Given the description of an element on the screen output the (x, y) to click on. 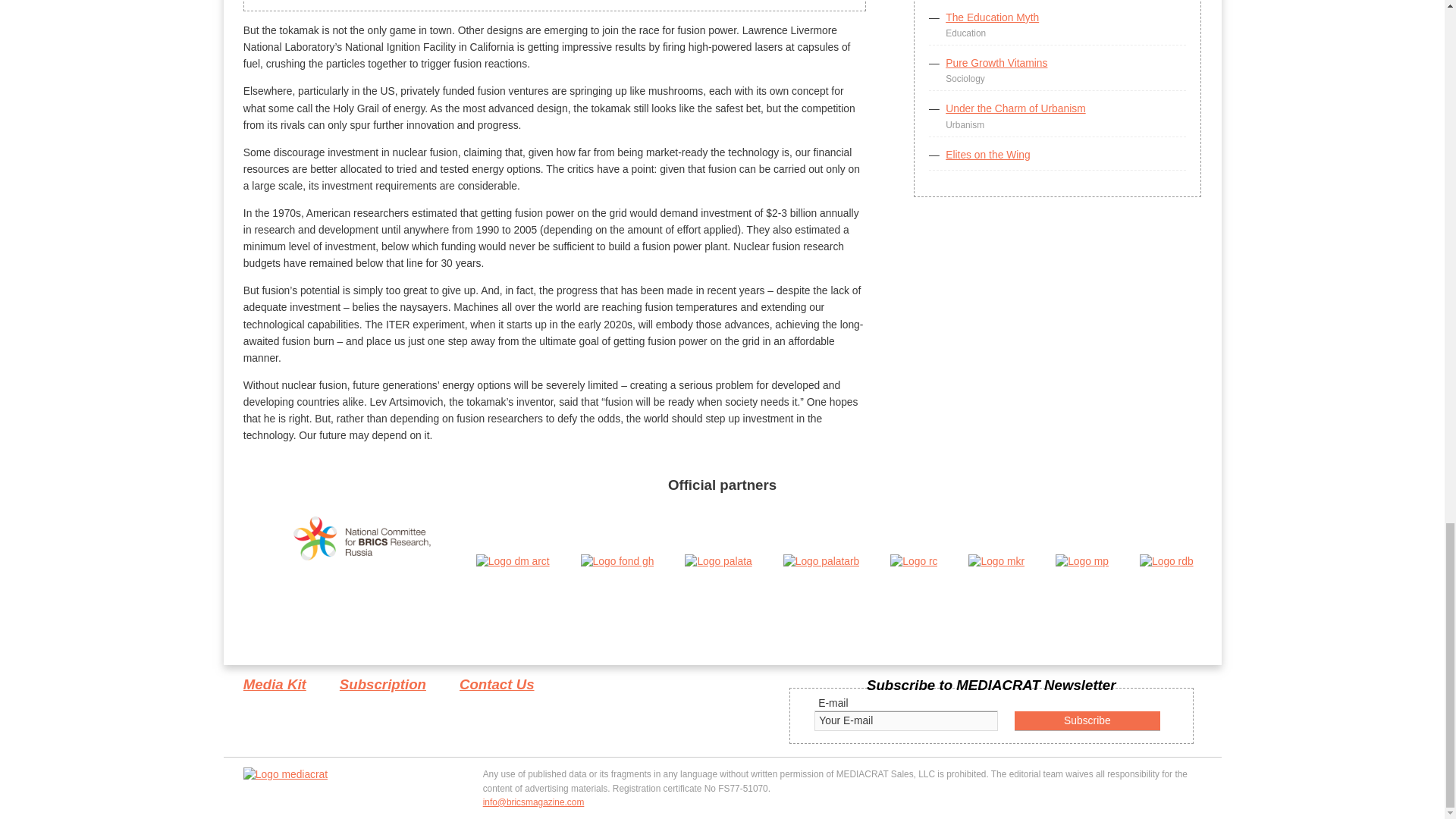
Pure Growth Vitamins (995, 62)
Elites on the Wing (986, 154)
The Education Myth (991, 17)
Your E-mail (905, 720)
Your E-mail (905, 720)
Subscribe (1086, 720)
Under the Charm of Urbanism (1014, 108)
